Given the description of an element on the screen output the (x, y) to click on. 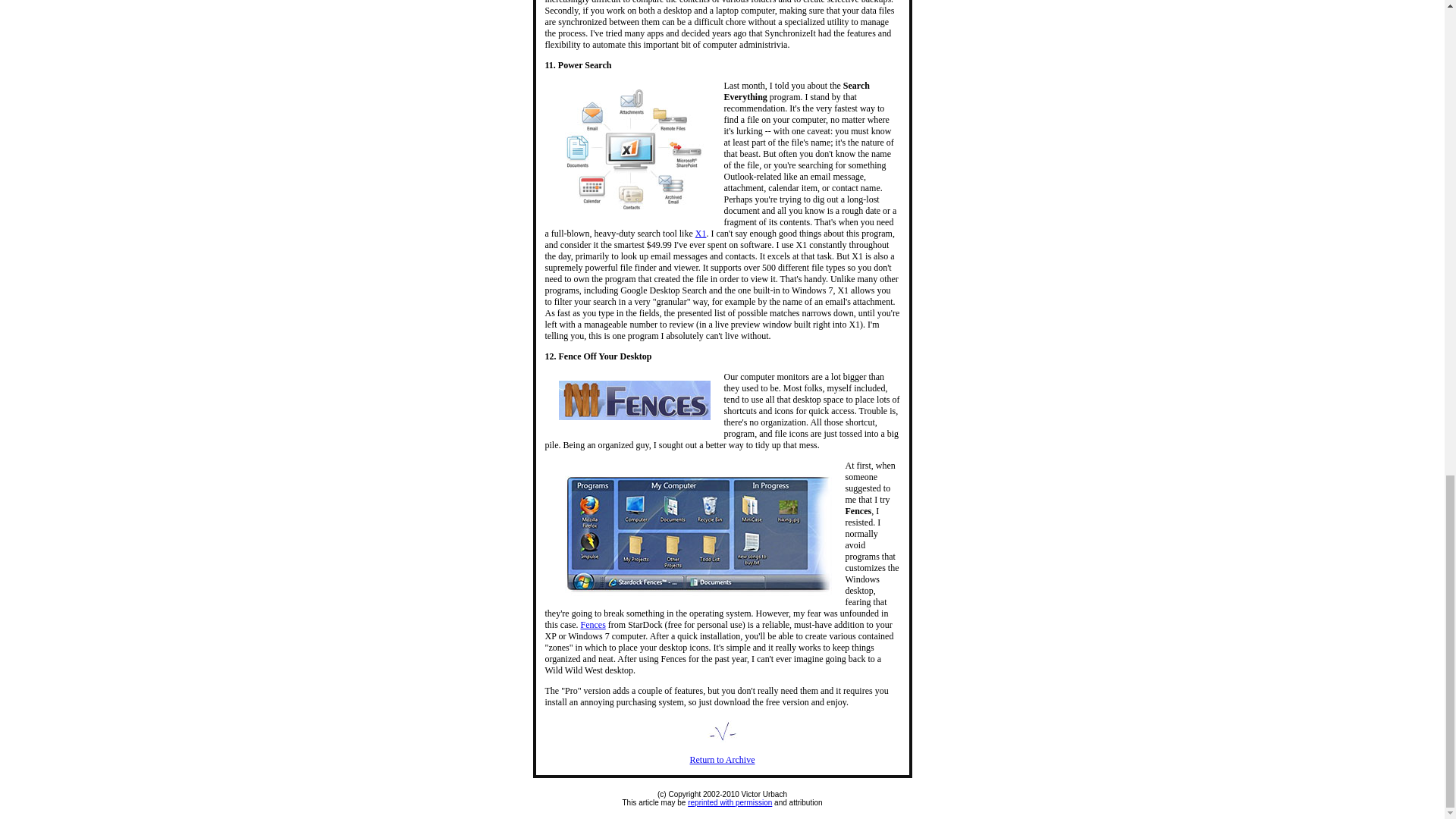
Fences (592, 624)
X1 (700, 233)
reprinted with permission (729, 802)
Return to Archive (722, 759)
